Given the description of an element on the screen output the (x, y) to click on. 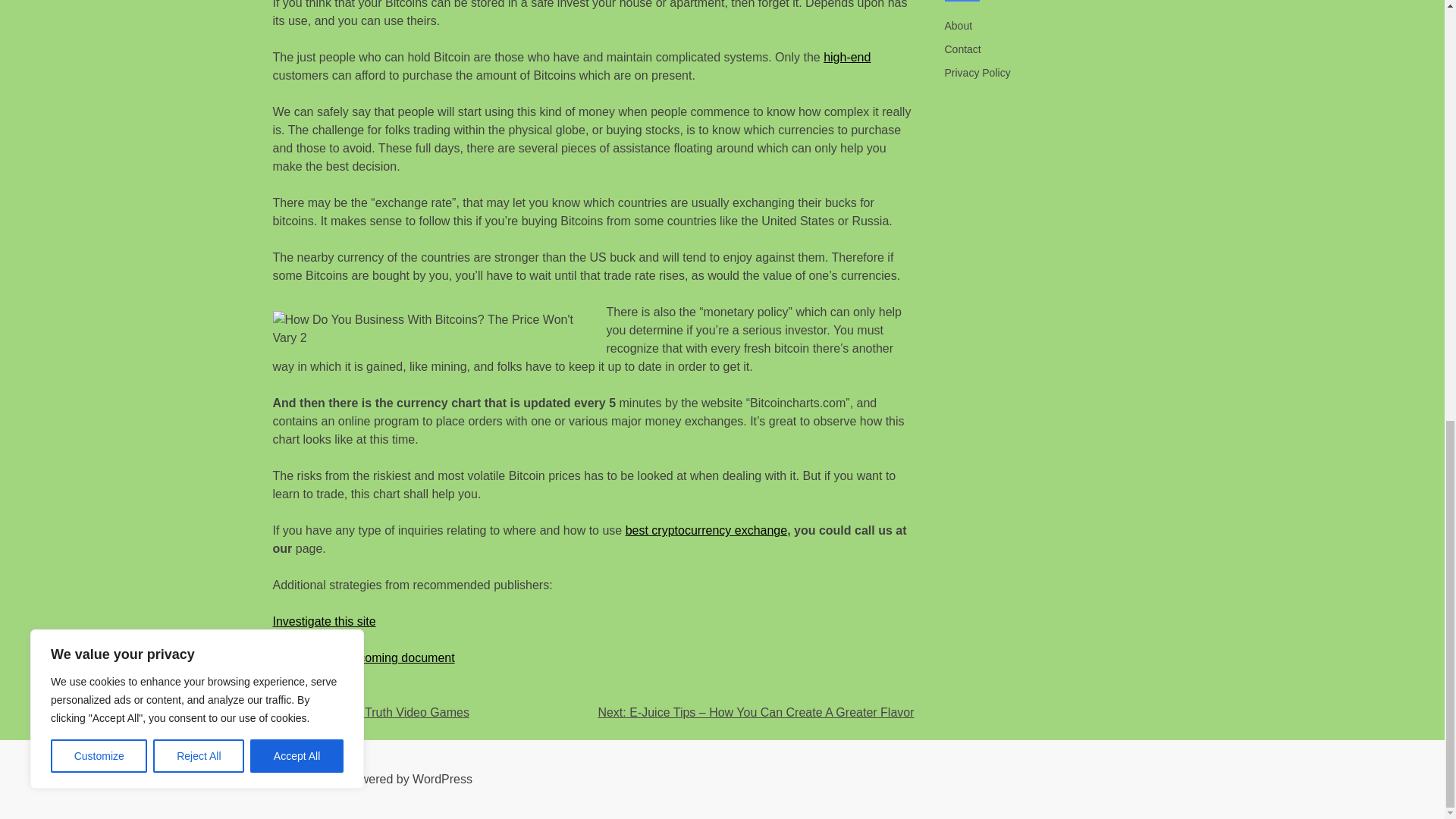
high-end (847, 56)
just click the up coming document (363, 657)
Investigate this site (324, 621)
Previous: Online Truth Video Games (370, 712)
Greatest (327, 694)
best cryptocurrency exchange (706, 530)
